Given the description of an element on the screen output the (x, y) to click on. 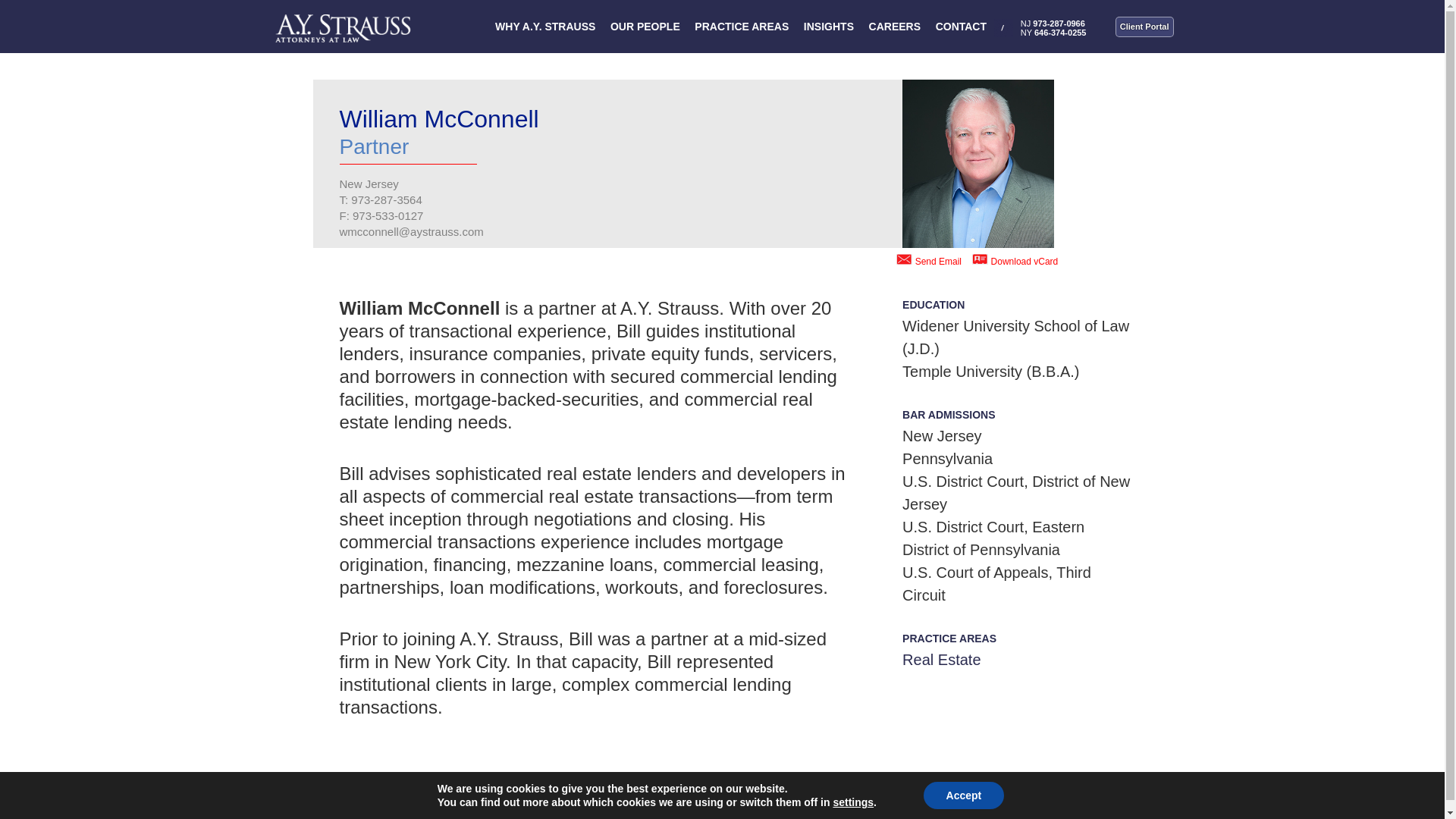
PRACTICE AREAS (741, 26)
LinkedIn (894, 803)
Accept (963, 795)
A.Y. Strauss (354, 803)
Download vCard (1024, 261)
973-287-0966 (1058, 22)
settings (852, 802)
CAREERS (894, 26)
Insights (849, 803)
A.Y. Strauss (354, 803)
973-287-3564 (386, 199)
646-374-0255 (1059, 31)
Careers (980, 803)
A.Y. Strauss (342, 24)
Our People (799, 803)
